Given the description of an element on the screen output the (x, y) to click on. 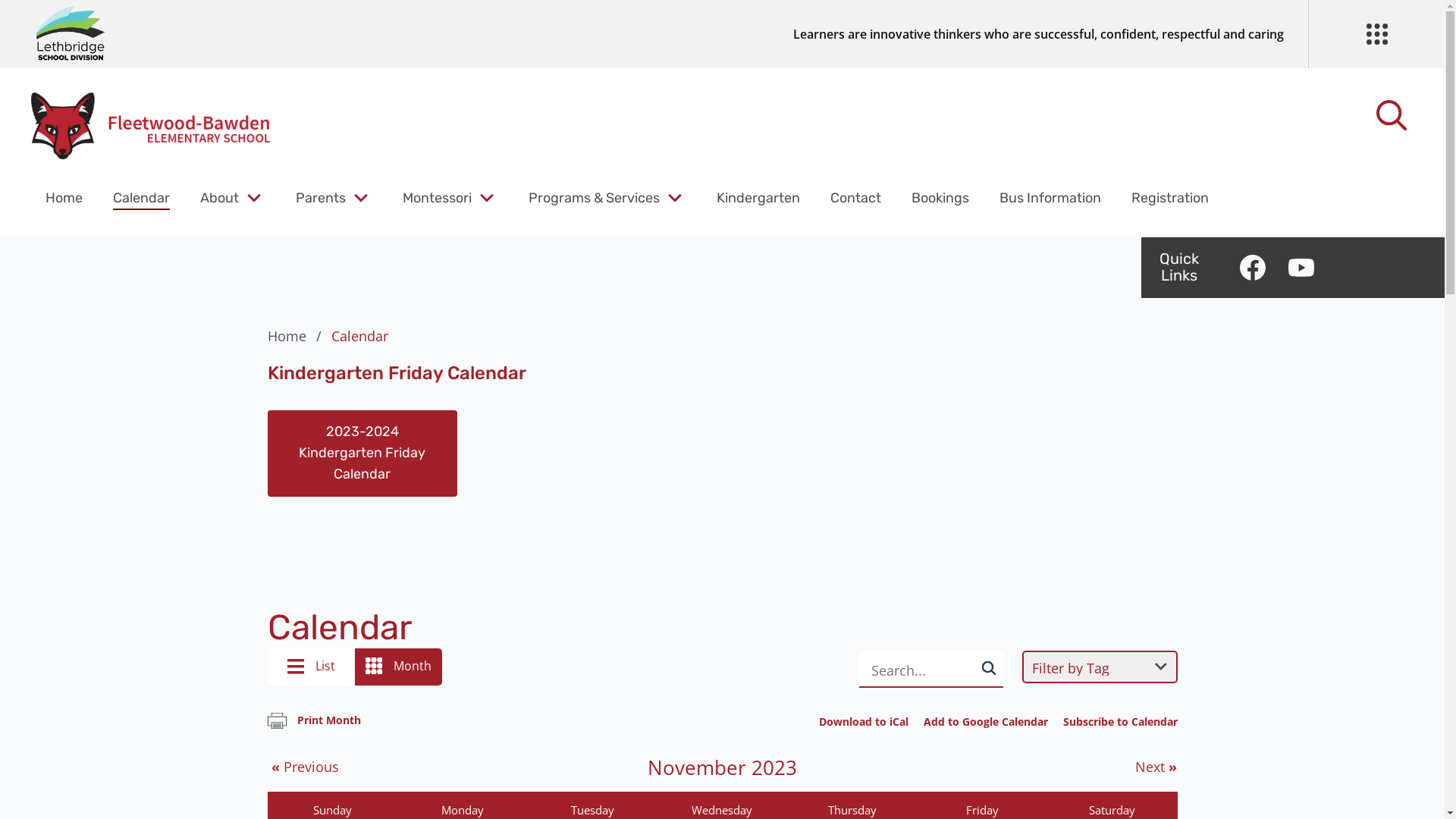
About Element type: text (219, 197)
Quick Links Element type: text (1179, 267)
Subscribe to Calendar Element type: text (1120, 721)
Contact Element type: text (855, 197)
Programs & Services Element type: text (593, 197)
Search Element type: text (45, 19)
Kindergarten Element type: text (758, 197)
Home Element type: text (63, 197)
2023-2024 Kindergarten Friday Calendar Element type: text (361, 453)
Parents Element type: text (320, 197)
Download to iCal Element type: text (863, 721)
Print Month Element type: text (313, 719)
Bus Information Element type: text (1050, 197)
home Element type: hover (151, 125)
Next Element type: text (1155, 767)
Bookings Element type: text (940, 197)
Add to Google Calendar Element type: text (985, 721)
Previous Element type: text (302, 767)
Fleetwood-Bawden Elementary School's Facebook Element type: hover (1252, 267)
Home Element type: text (296, 335)
Montessori Element type: text (436, 197)
Calendar Element type: text (140, 197)
Registration Element type: text (1169, 197)
Fleetwood-Bawden Elementary School's YouTube Element type: hover (1301, 267)
